Given the description of an element on the screen output the (x, y) to click on. 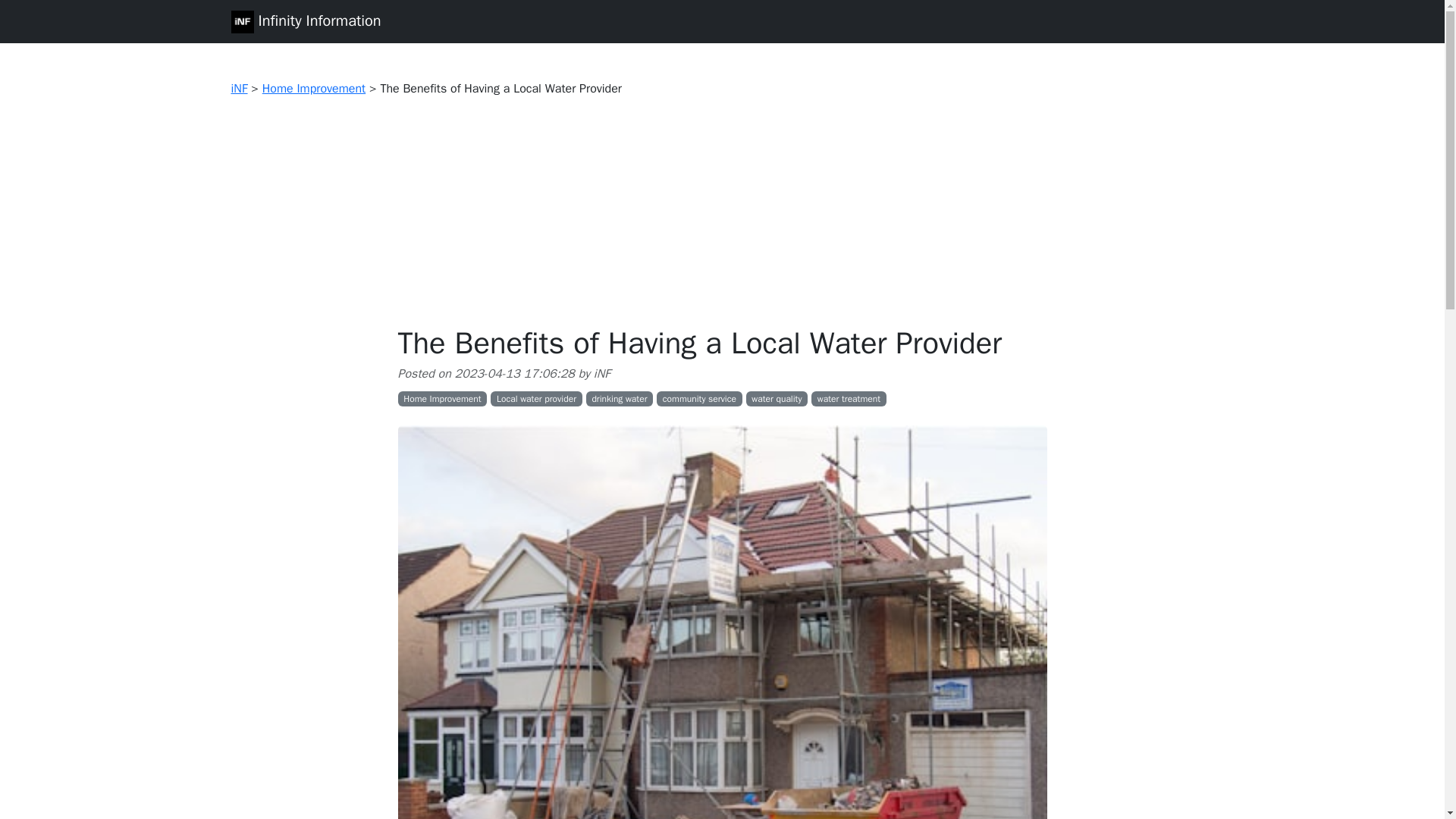
iNF (238, 88)
water treatment (848, 398)
Home Improvement (441, 398)
Infinity Information (305, 20)
water quality (776, 398)
Local water provider (536, 398)
Home Improvement (313, 88)
community service (699, 398)
drinking water (619, 398)
